Given the description of an element on the screen output the (x, y) to click on. 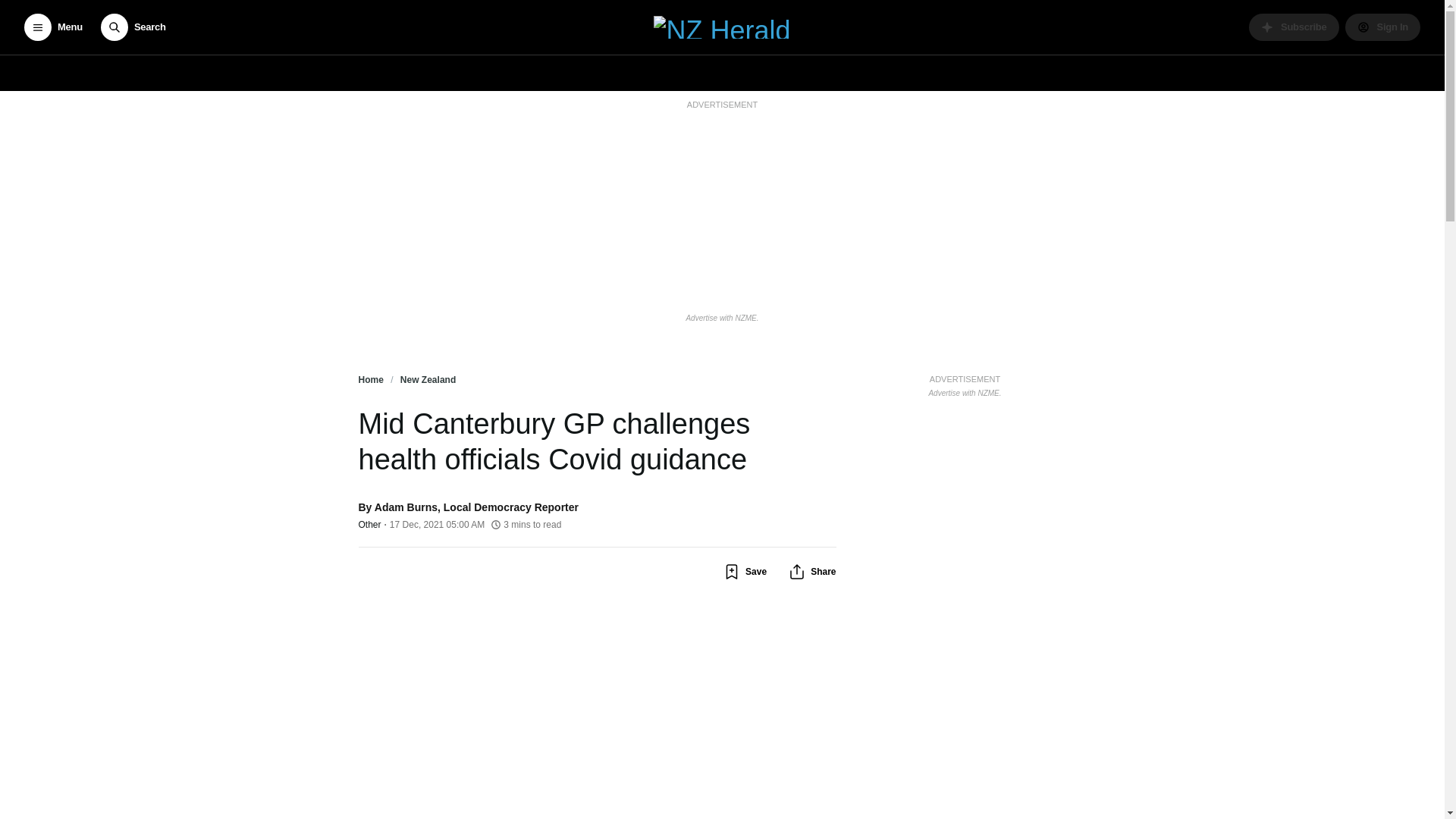
Menu (53, 26)
Search (132, 26)
Subscribe (1294, 26)
Manage your account (1383, 26)
Sign In (1383, 26)
